Given the description of an element on the screen output the (x, y) to click on. 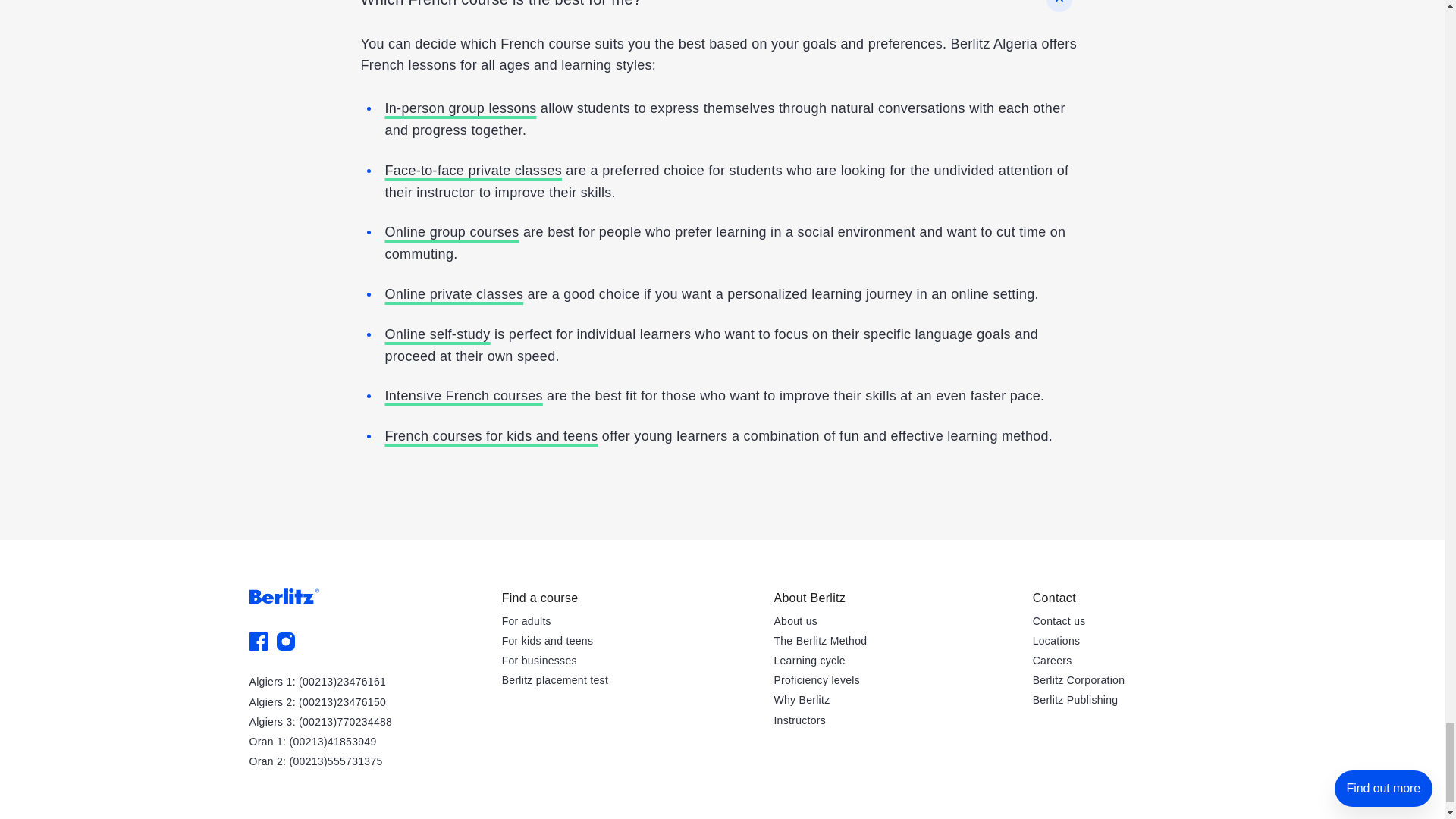
home (283, 595)
